Given the description of an element on the screen output the (x, y) to click on. 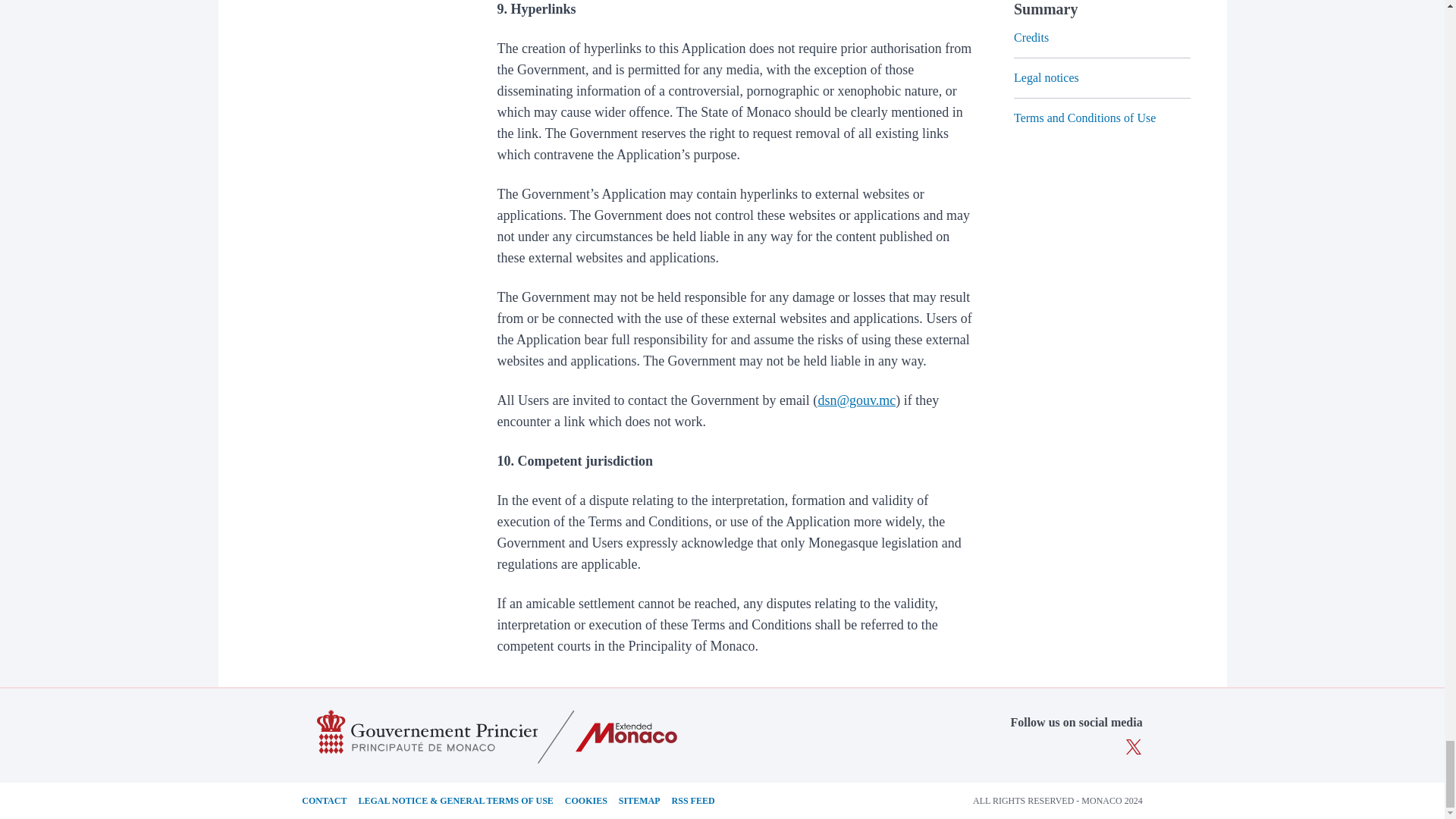
Aller vers le site de Monaco Extended (626, 736)
